Given the description of an element on the screen output the (x, y) to click on. 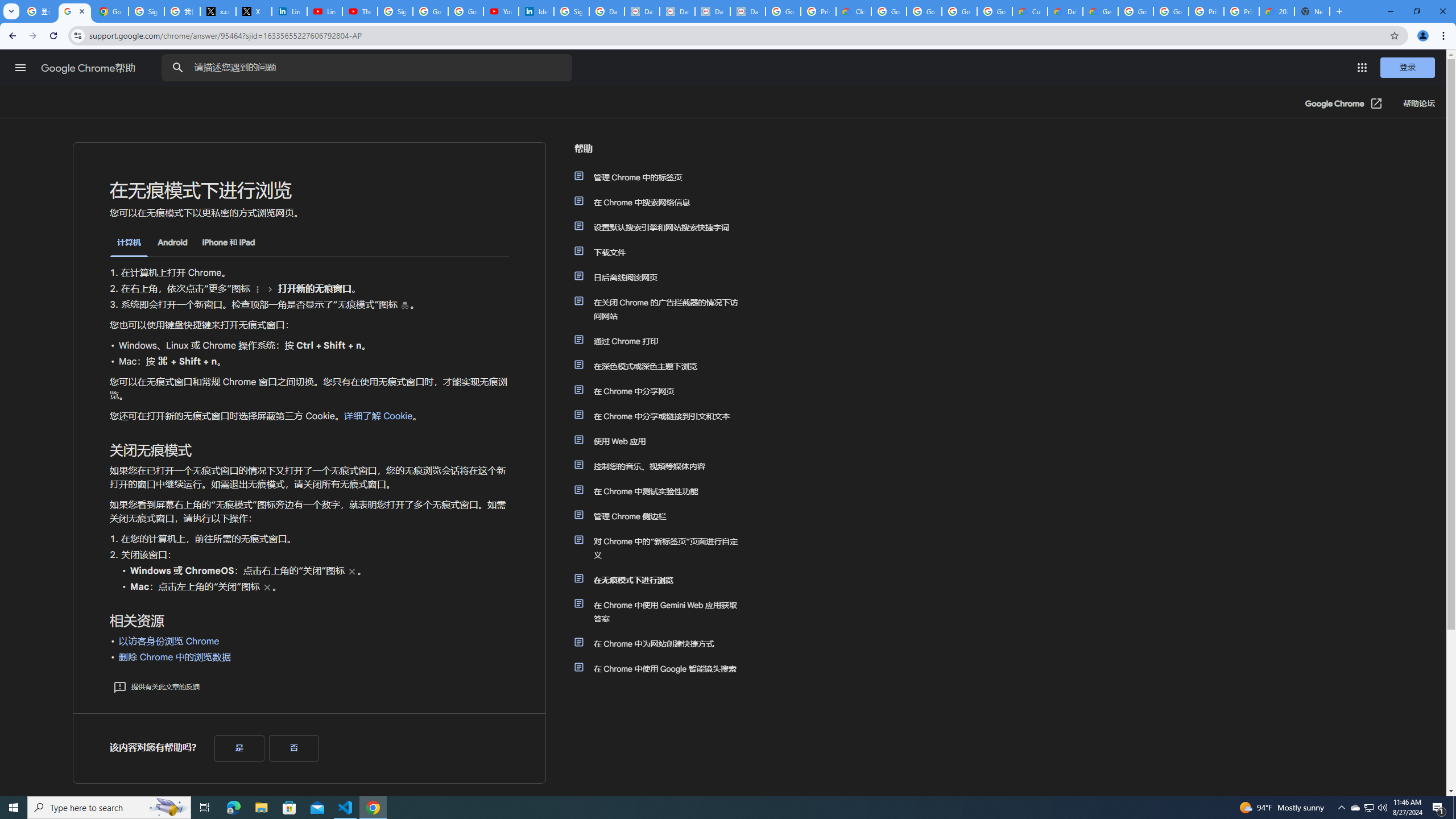
Android (172, 242)
